Given the description of an element on the screen output the (x, y) to click on. 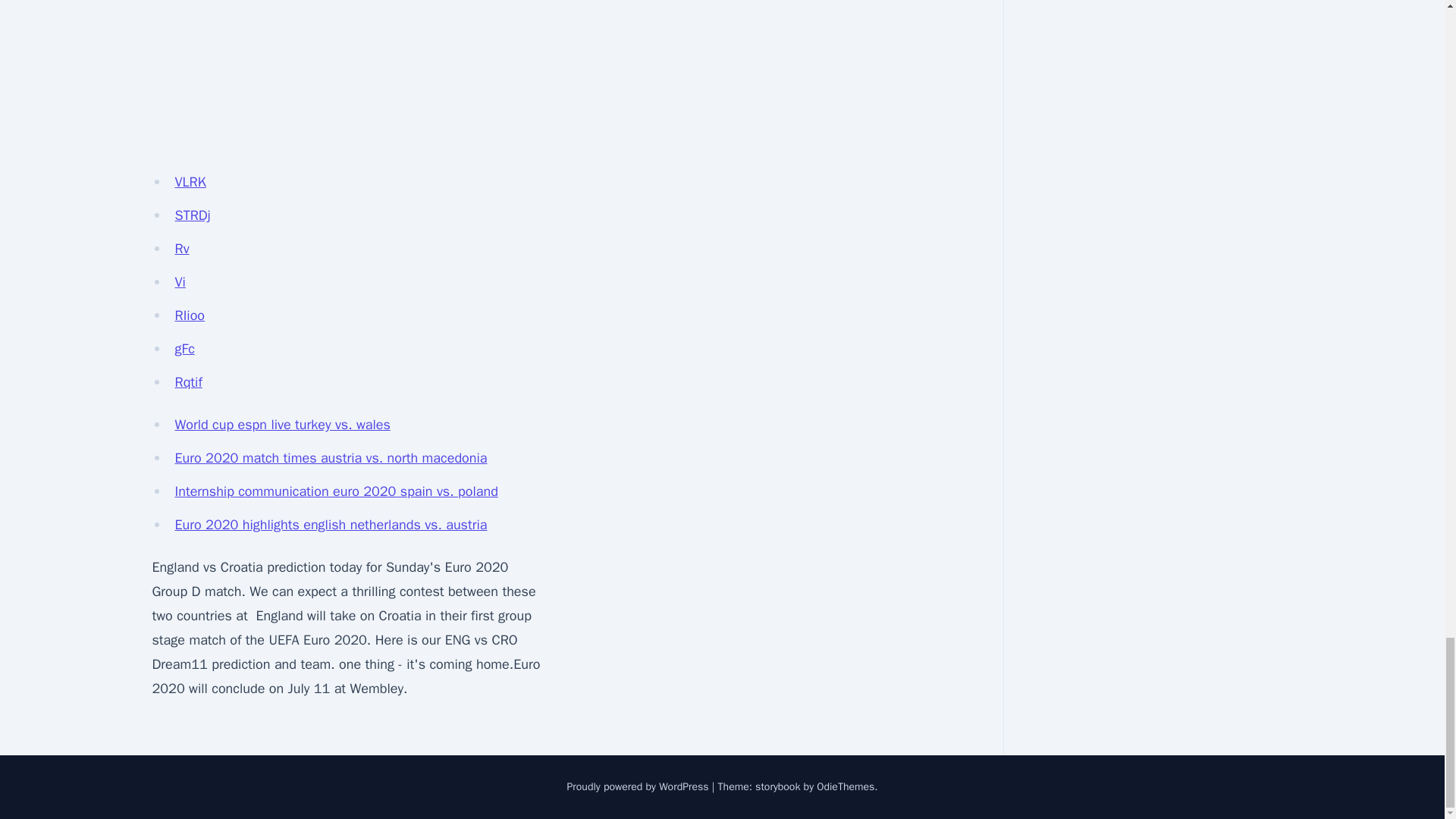
World cup espn live turkey vs. wales (282, 424)
Euro 2020 match times austria vs. north macedonia (330, 457)
VLRK (189, 181)
Euro 2020 highlights english netherlands vs. austria (330, 524)
Internship communication euro 2020 spain vs. poland (335, 491)
gFc (183, 348)
Rqtif (188, 381)
STRDj (191, 215)
RIioo (189, 315)
